Given the description of an element on the screen output the (x, y) to click on. 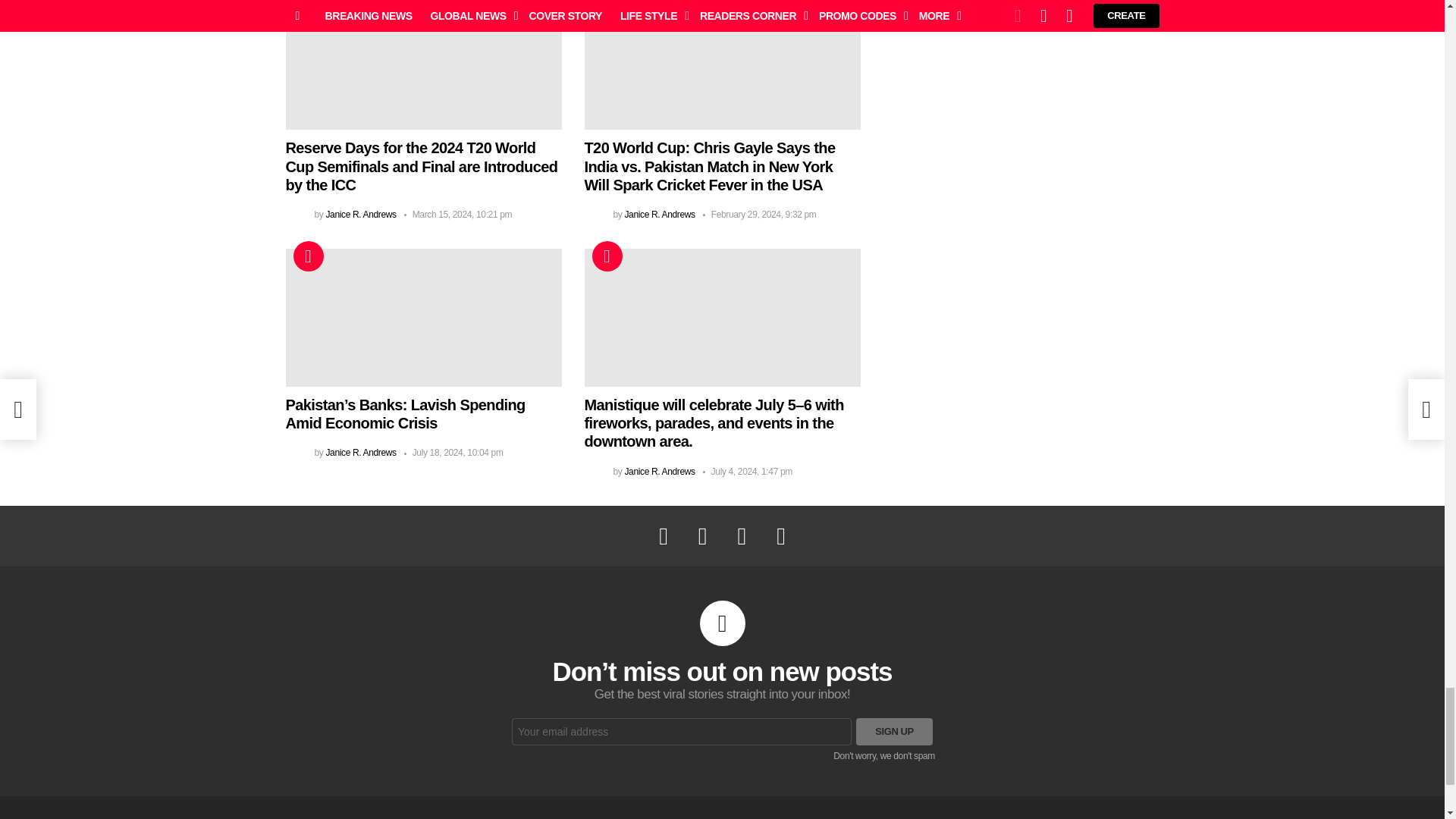
Sign up (894, 731)
